Given the description of an element on the screen output the (x, y) to click on. 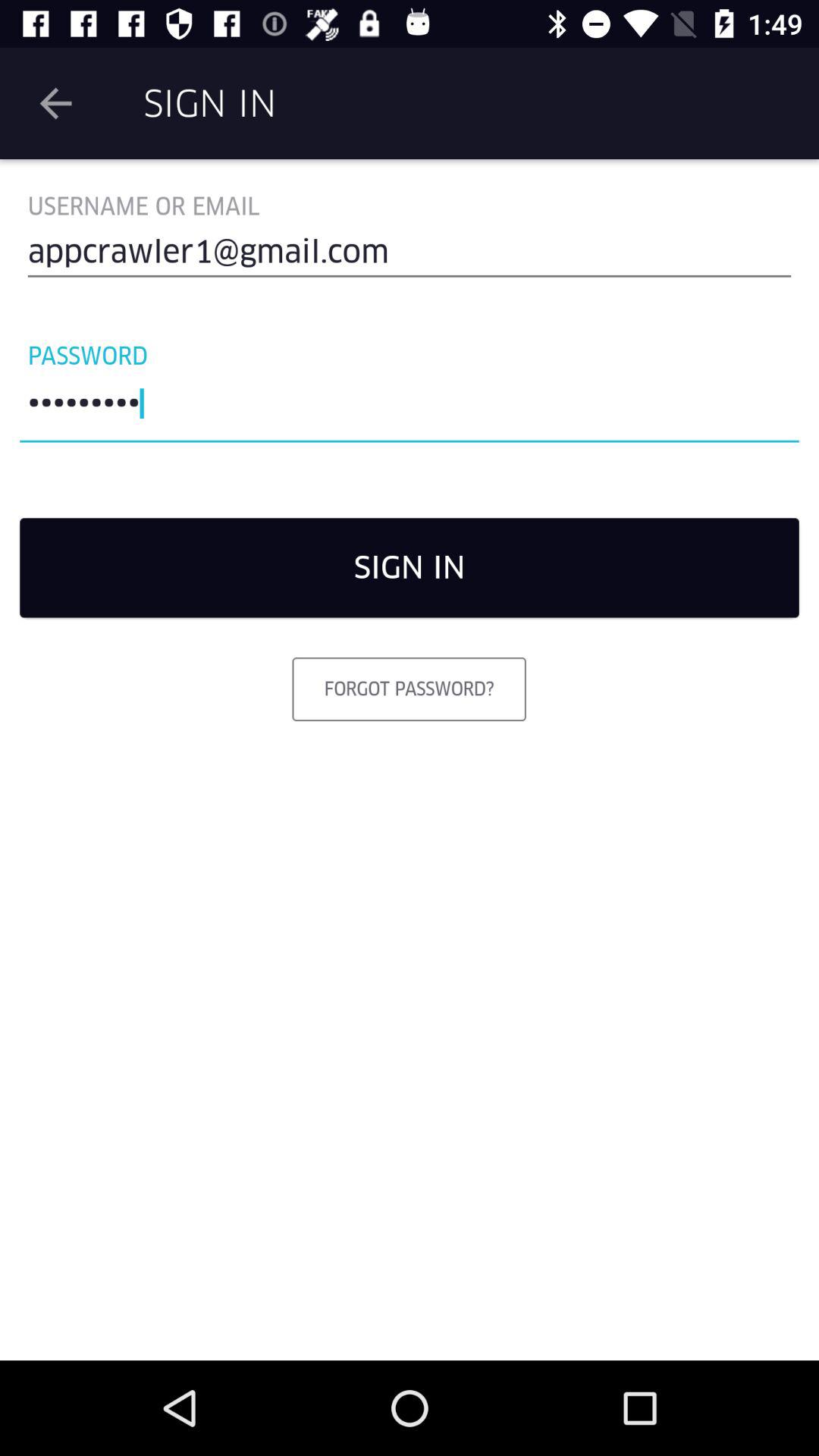
flip until appcrawler1@gmail.com item (409, 257)
